Given the description of an element on the screen output the (x, y) to click on. 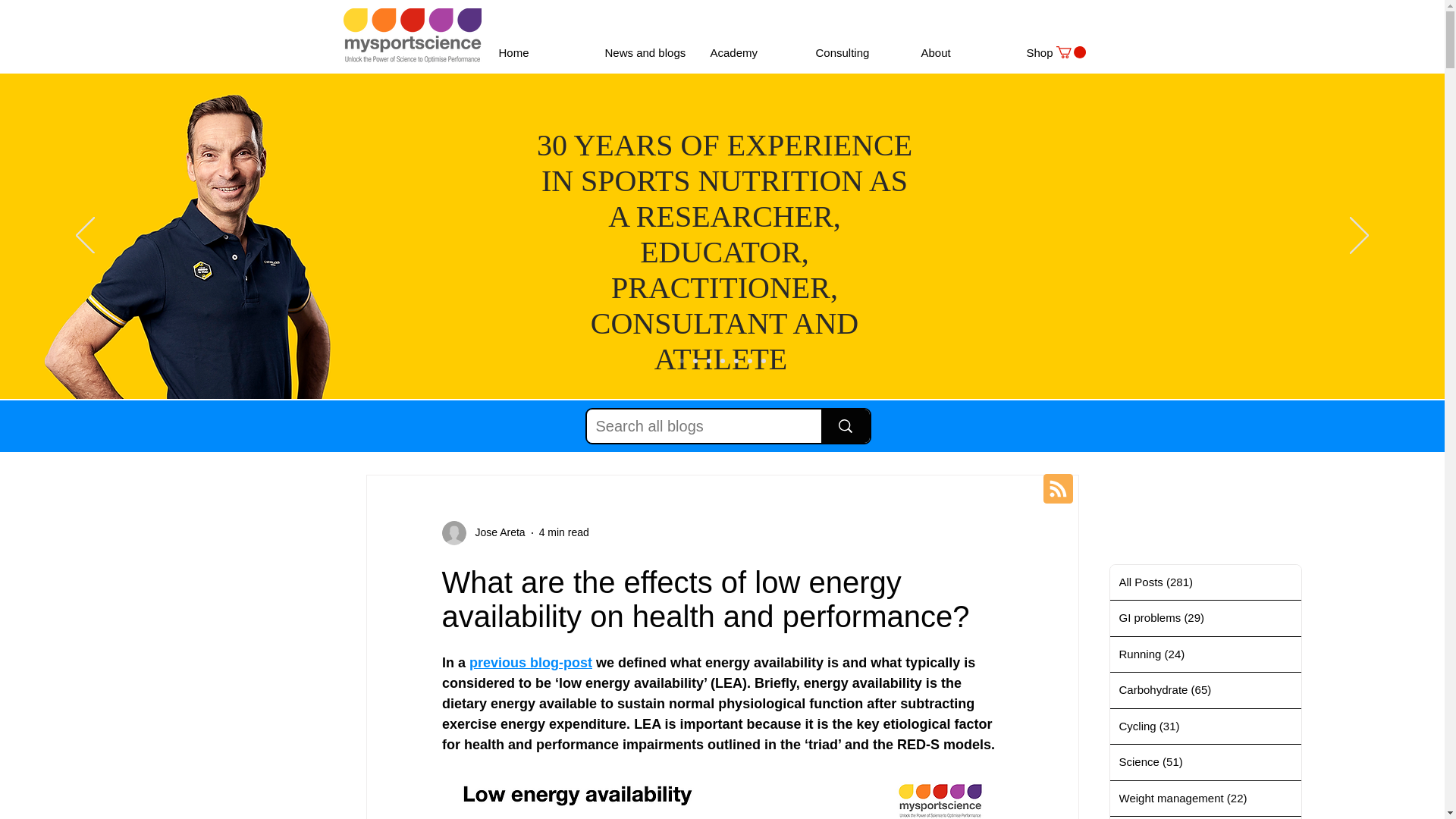
About (962, 52)
Running (532, 428)
Science (745, 428)
My Sport Scienc (411, 35)
Home (539, 52)
Cycling (682, 428)
Weight management (836, 428)
All Posts (384, 428)
4 min read (563, 532)
News and blogs (644, 52)
Shop (1066, 52)
Consulting (855, 52)
Carbohydrate (608, 428)
Academy (750, 52)
GI problems (459, 428)
